Given the description of an element on the screen output the (x, y) to click on. 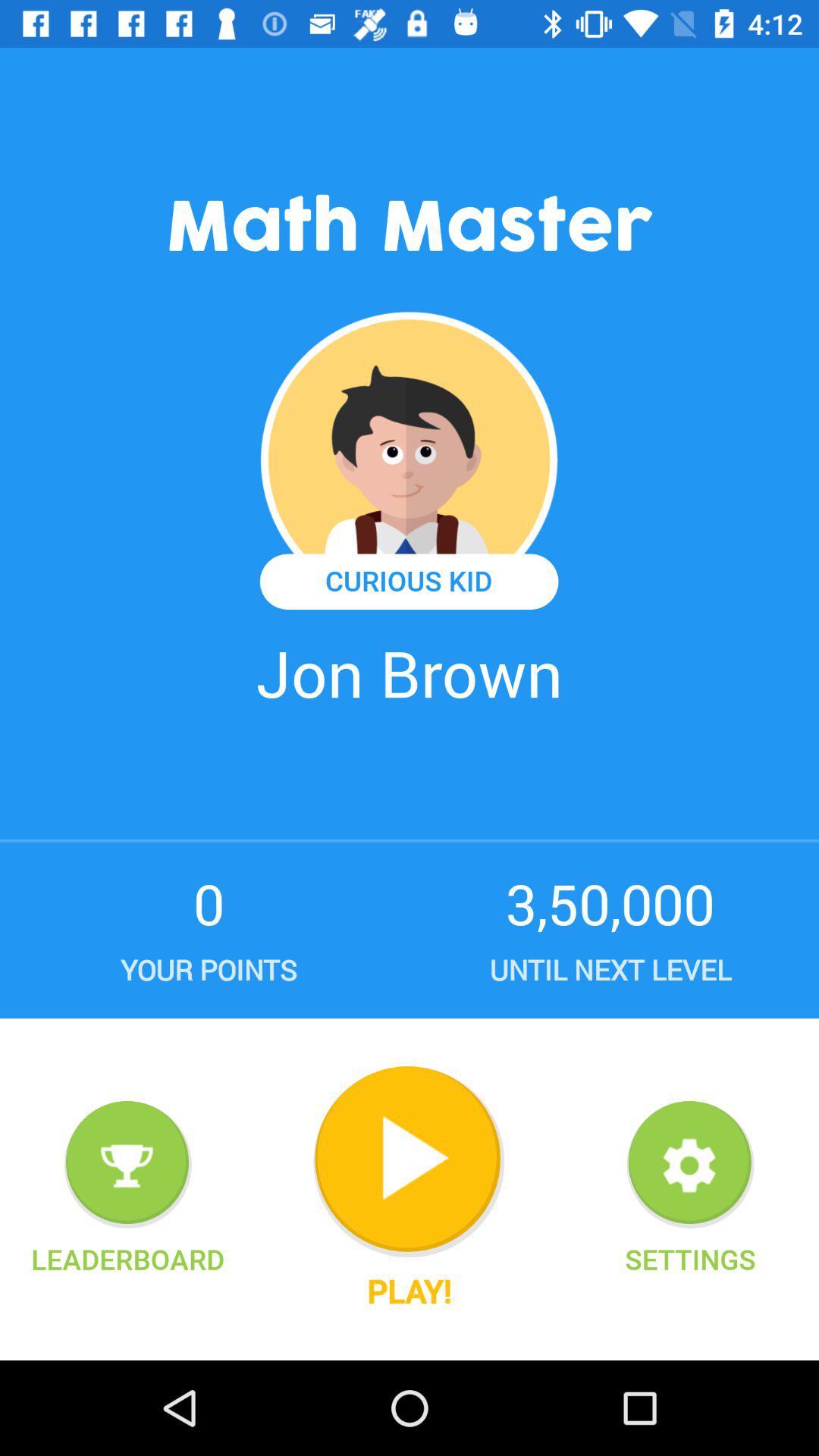
click item next to settings (408, 1161)
